Given the description of an element on the screen output the (x, y) to click on. 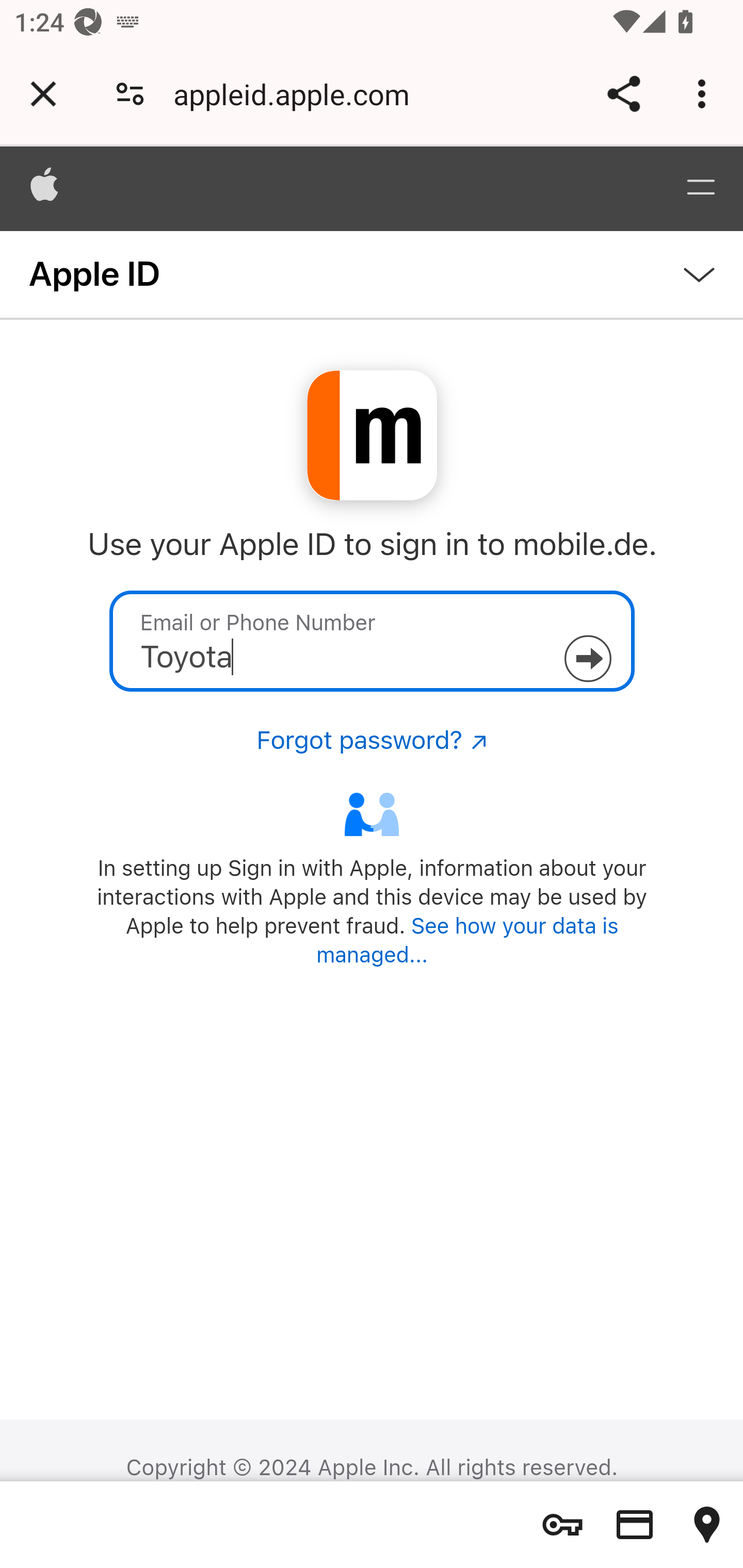
Close tab (43, 93)
Share (623, 93)
Customize and control Google Chrome (705, 93)
Connection is secure (129, 93)
appleid.apple.com (298, 93)
Apple (45, 188)
Menu (700, 188)
Toyota (372, 640)
Continue (586, 658)
Show saved passwords and password options (562, 1524)
Show saved payment methods (634, 1524)
Show saved addresses (706, 1524)
